Given the description of an element on the screen output the (x, y) to click on. 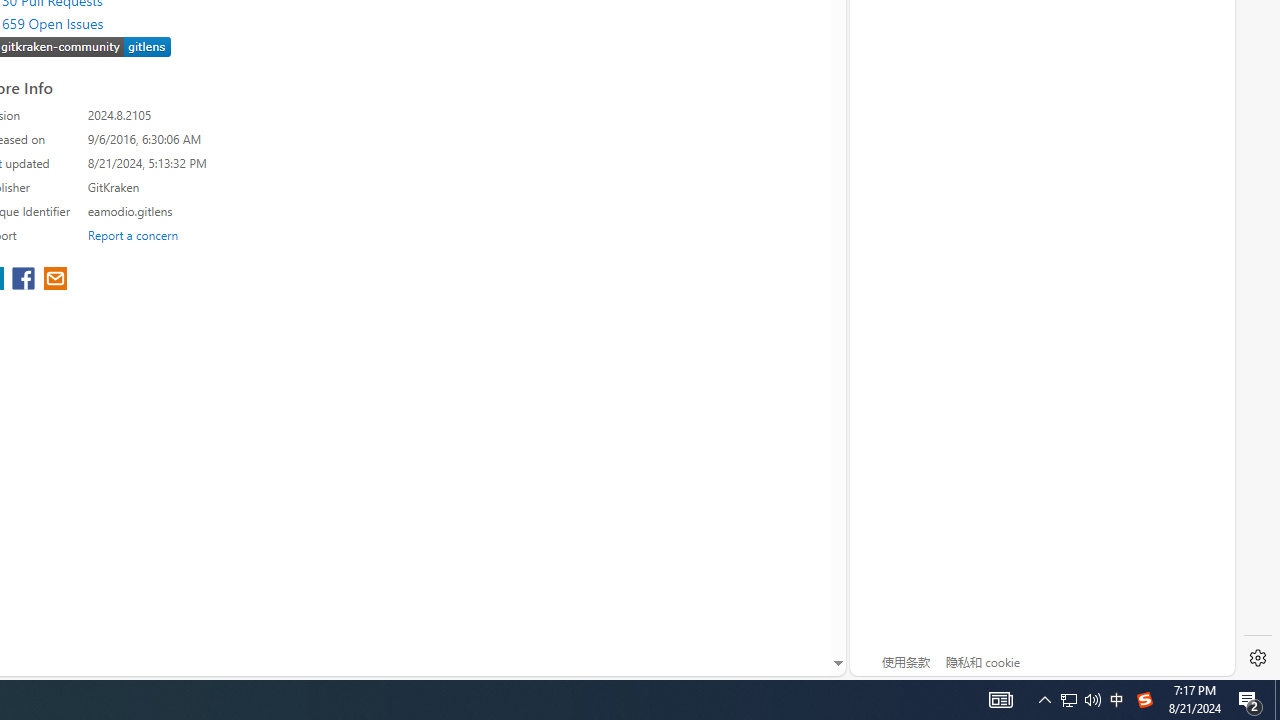
AutomationID: 4105 (1000, 699)
Q2790: 100% (1092, 699)
Tray Input Indicator - Chinese (Simplified, China) (1144, 699)
Action Center, 2 new notifications (1069, 699)
Show desktop (1250, 699)
Notification Chevron (1277, 699)
User Promoted Notification Area (1044, 699)
